Given the description of an element on the screen output the (x, y) to click on. 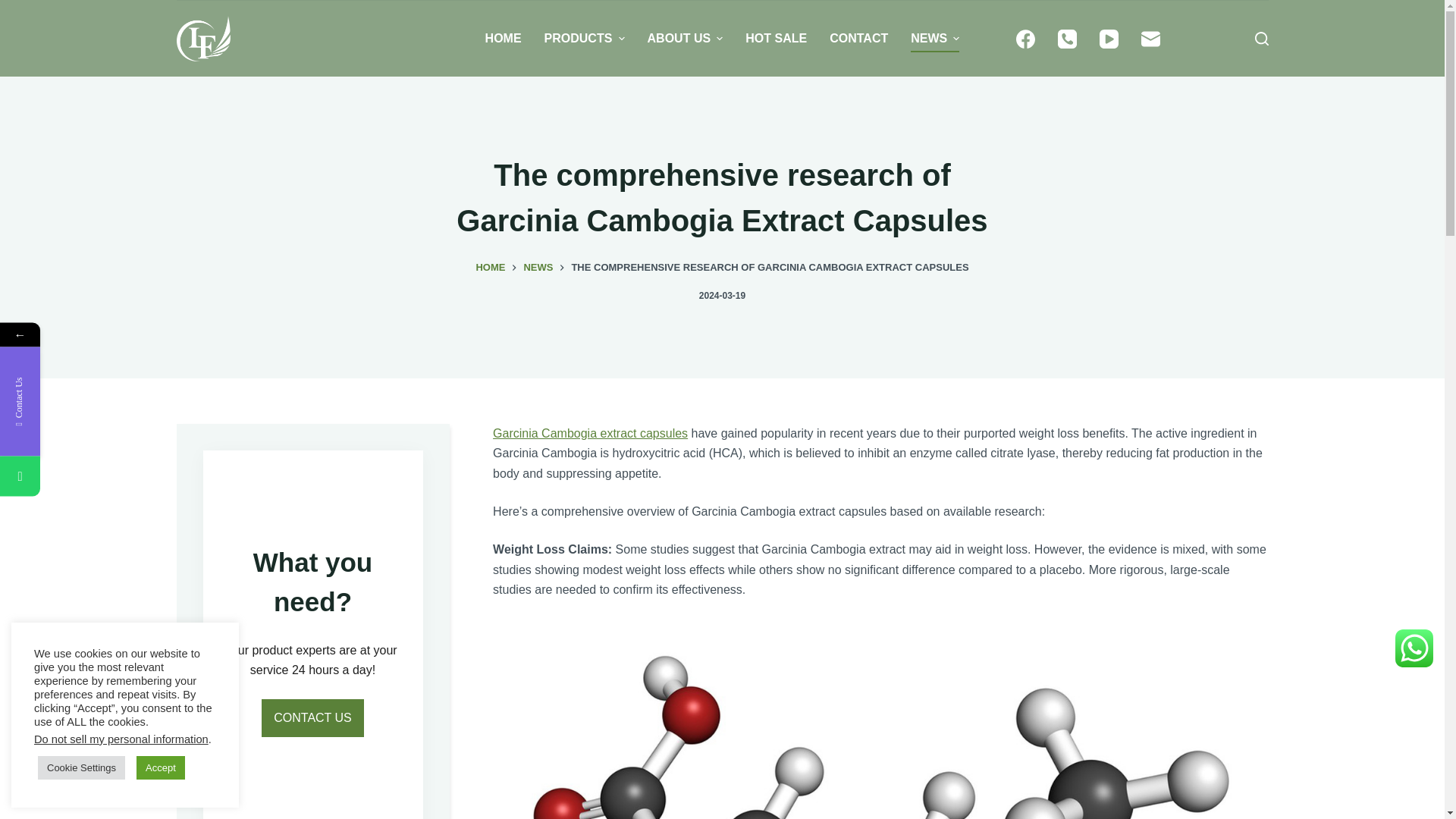
PRODUCTS (584, 38)
HOME (503, 38)
ABOUT US (685, 38)
WhatsApp (92, 476)
Skip to content (15, 7)
WhatsApp (20, 476)
